Given the description of an element on the screen output the (x, y) to click on. 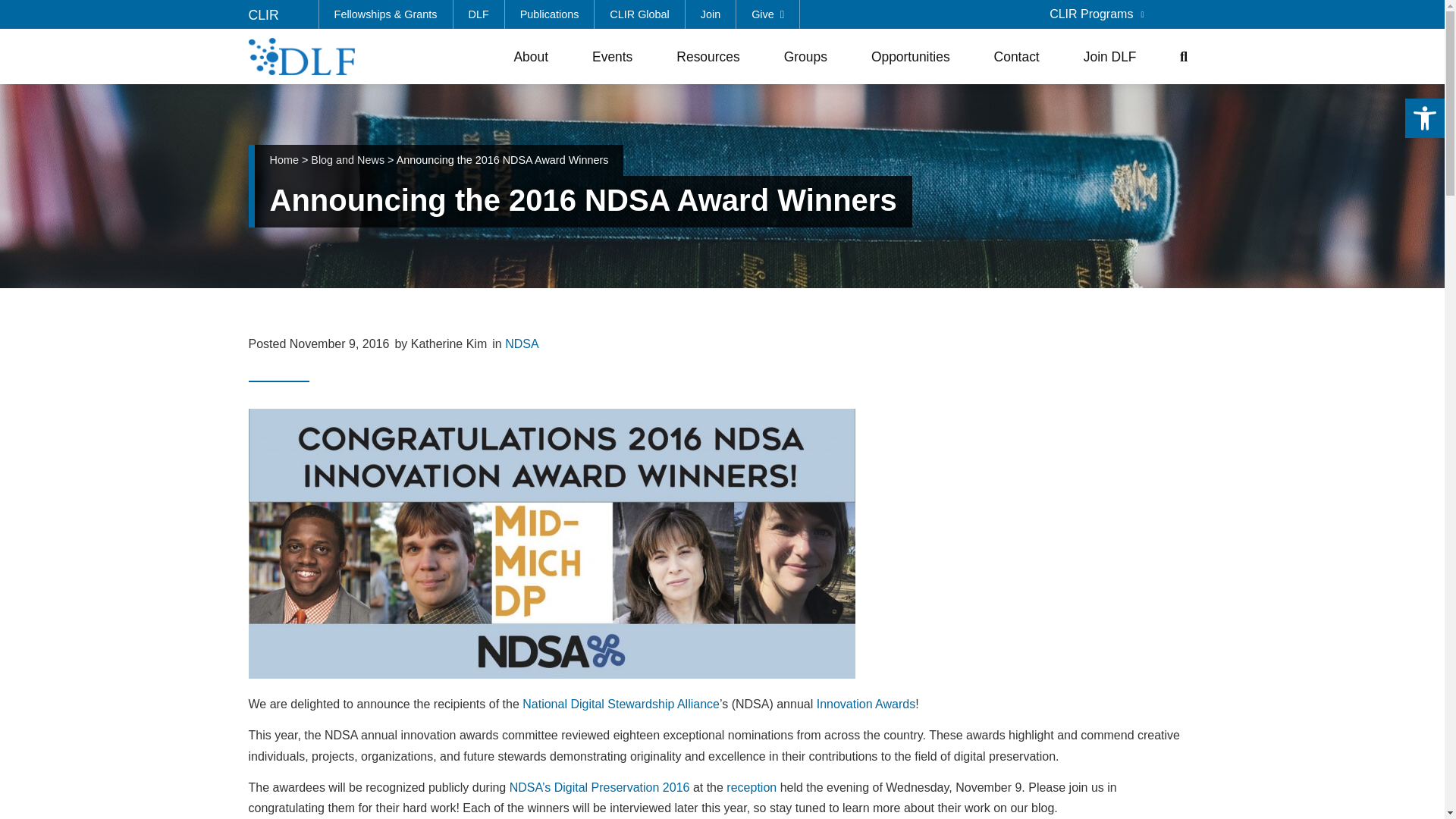
CLIR Global (639, 14)
CLIR Programs (1095, 13)
About (533, 56)
Join (710, 14)
Publications (550, 14)
Accessibility Tools (1424, 118)
DLF (478, 14)
Give (767, 14)
CLIR (263, 15)
